Given the description of an element on the screen output the (x, y) to click on. 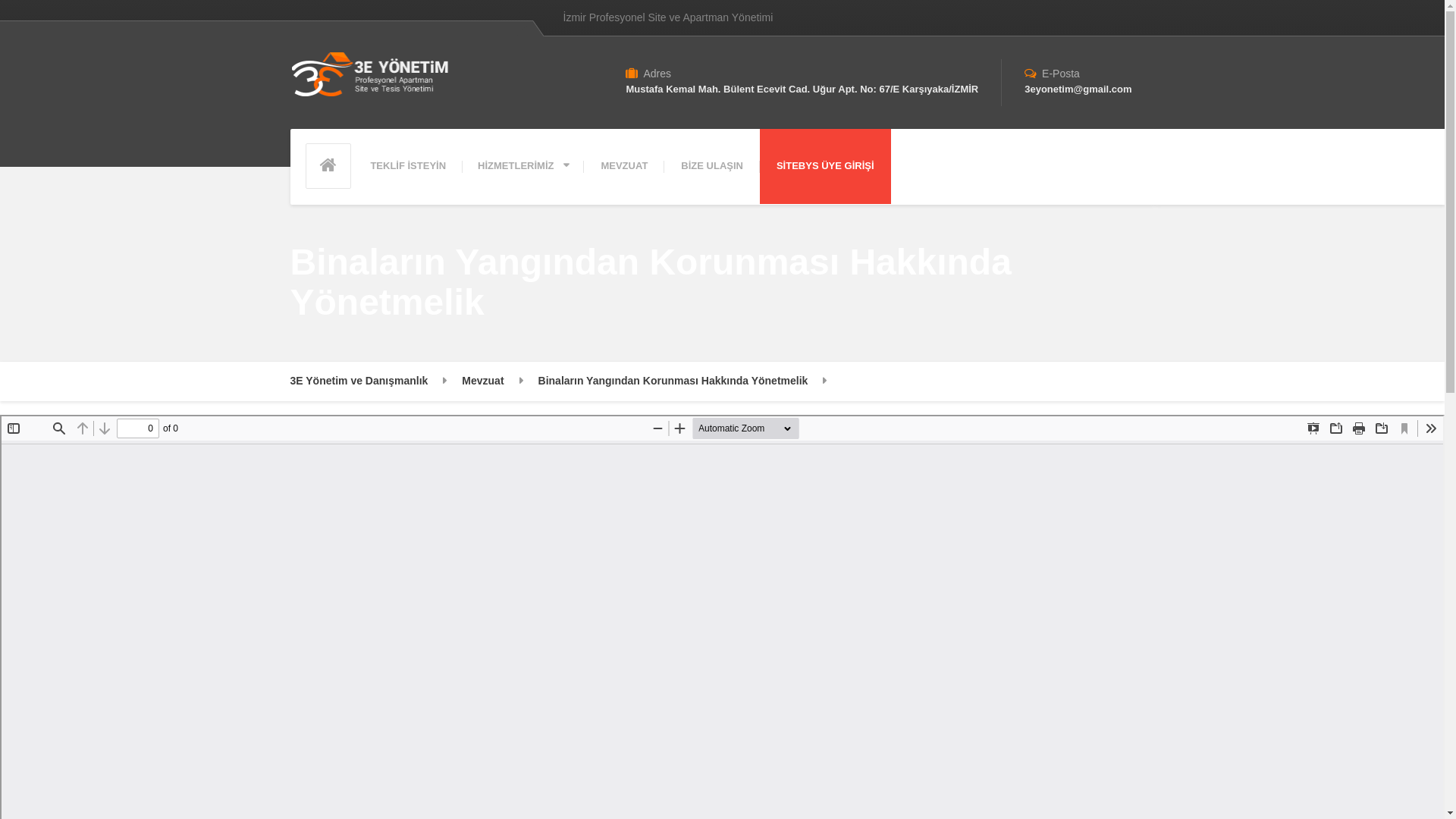
MEVZUAT Element type: text (623, 165)
Mevzuat Element type: text (491, 381)
